Given the description of an element on the screen output the (x, y) to click on. 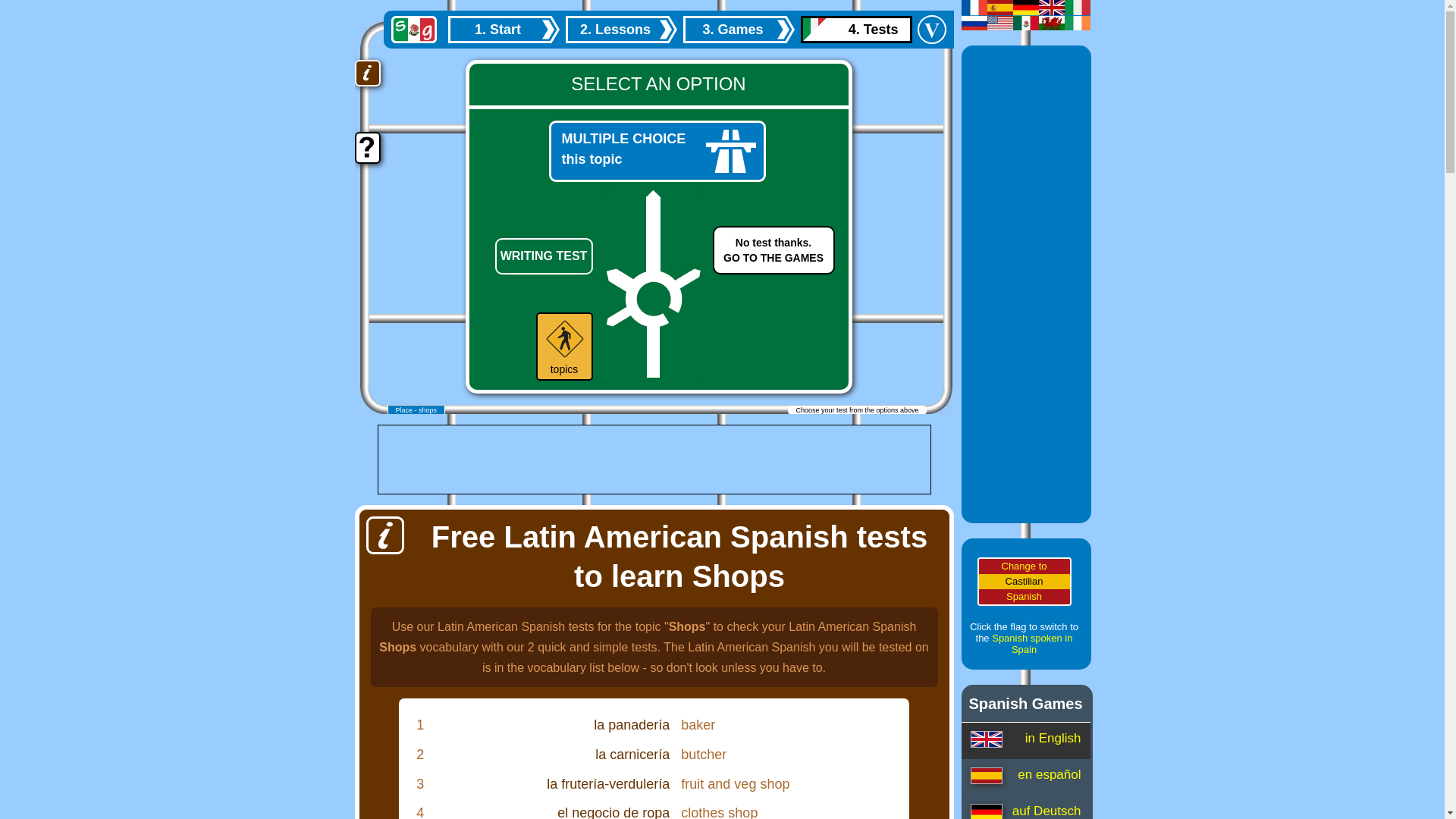
3. Games (737, 29)
Vocabulary pages (931, 29)
Advertisement (773, 250)
1. Start (653, 459)
el negocio de ropa (502, 29)
4. Tests (613, 812)
Start by selecting a Latin American Spanish topic to learn (856, 29)
2. Lessons (502, 29)
